Given the description of an element on the screen output the (x, y) to click on. 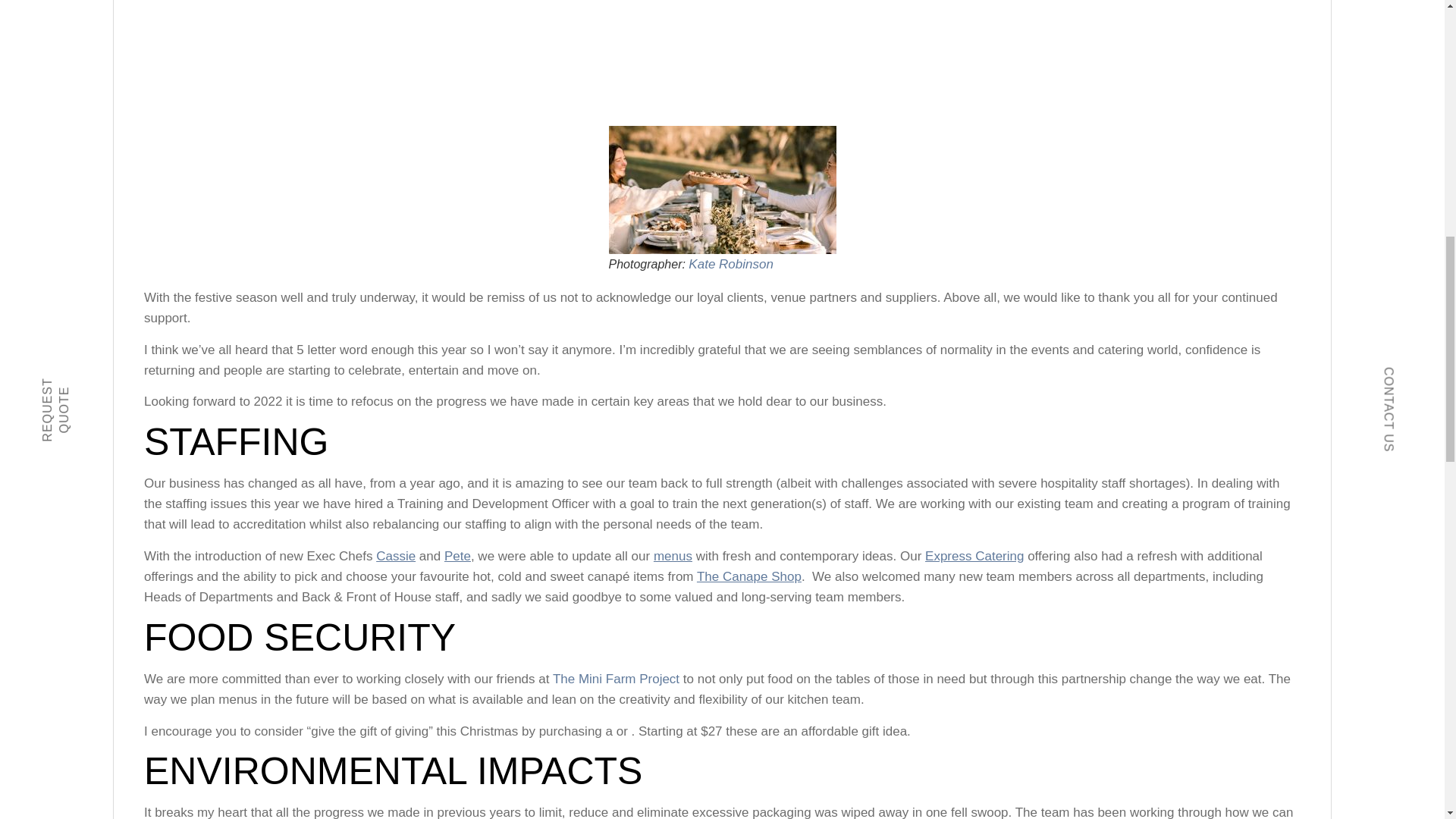
Photographer: Kate Robinson (721, 189)
